Given the description of an element on the screen output the (x, y) to click on. 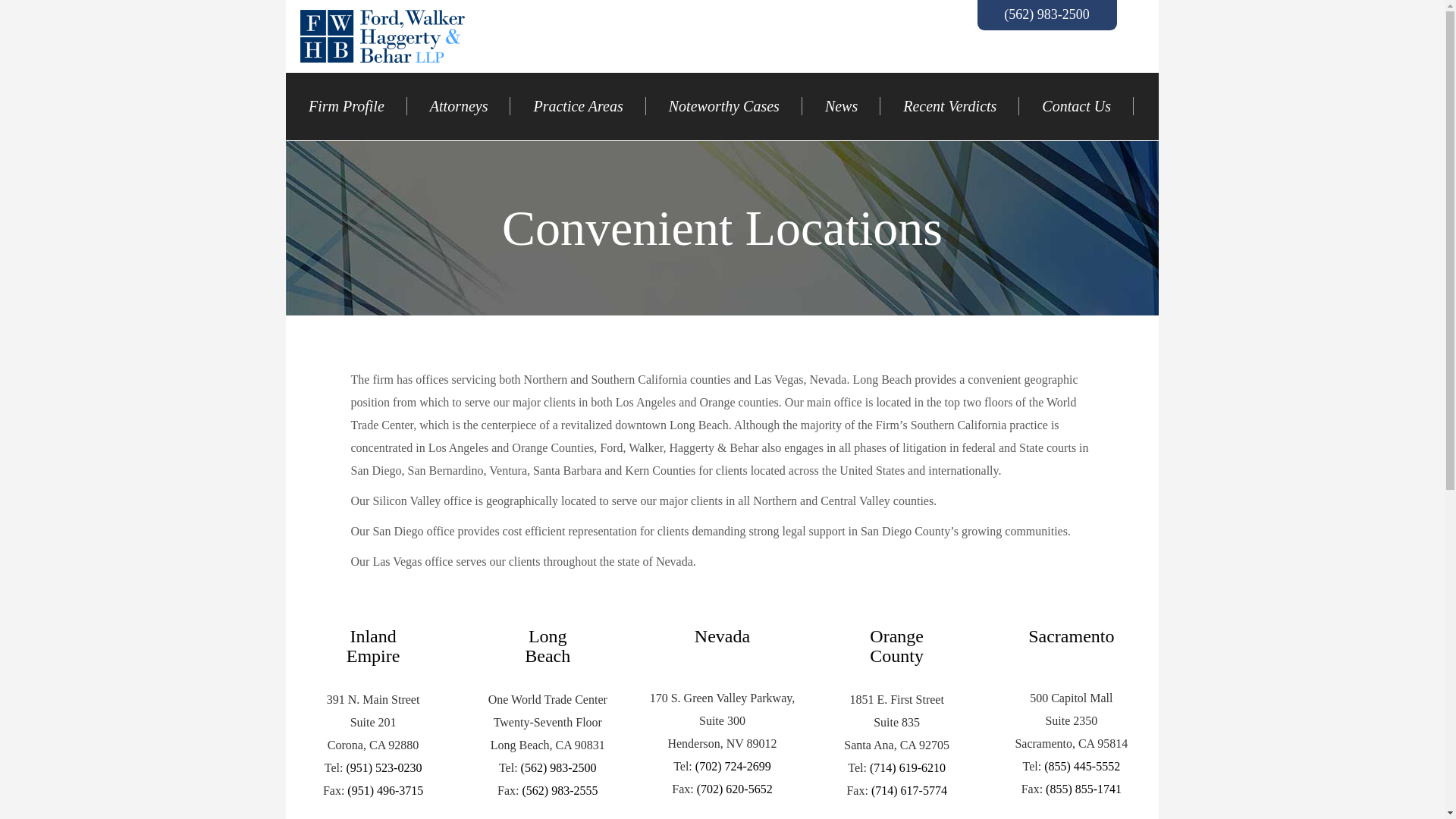
logo (381, 36)
Attorneys (459, 106)
Firm Profile (346, 106)
